Given the description of an element on the screen output the (x, y) to click on. 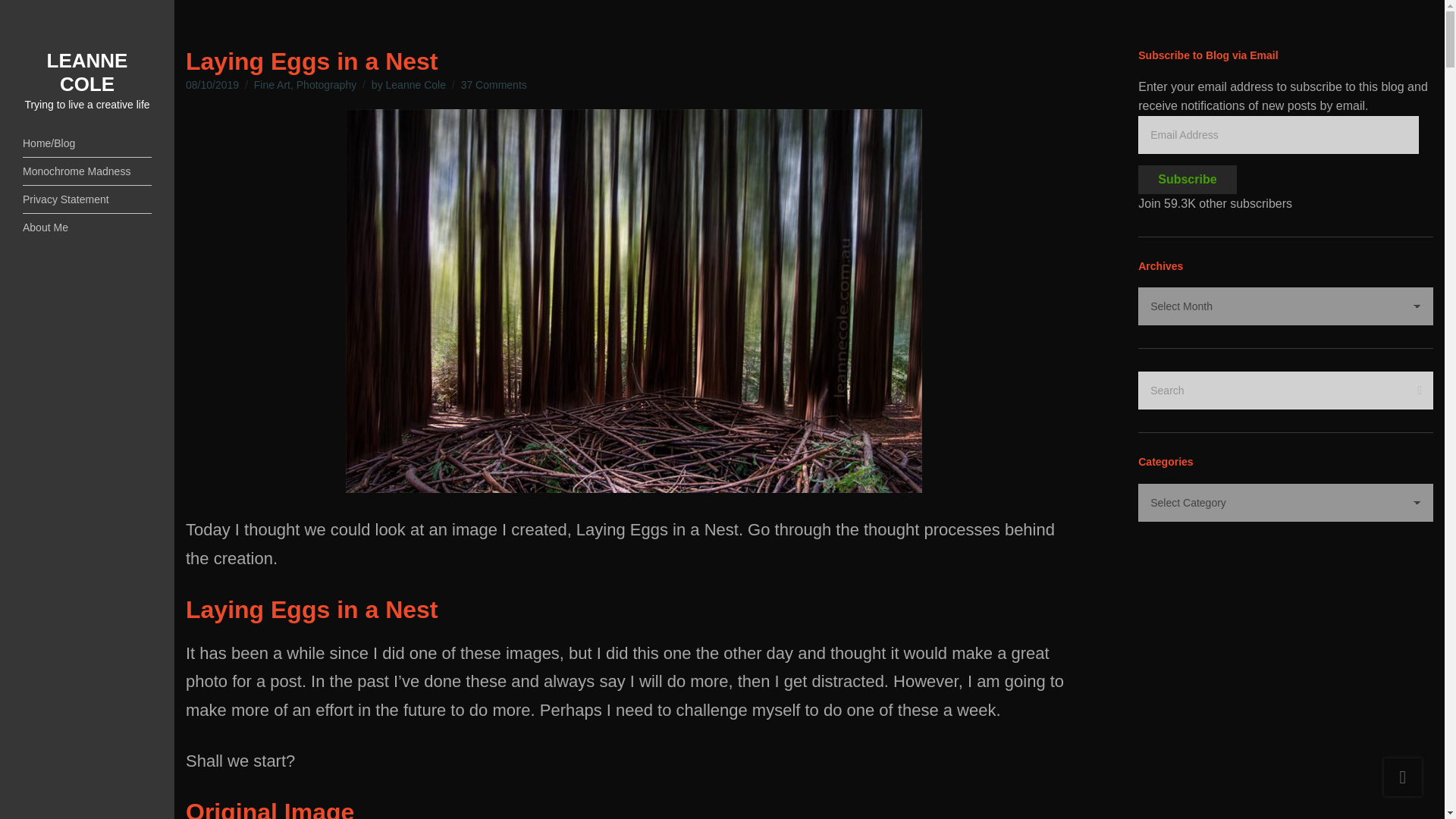
Leanne Cole (415, 84)
Privacy Statement (87, 199)
About (494, 84)
Monochrome Madness (87, 226)
Fine Art (87, 171)
LEANNE COLE (271, 84)
About Me (87, 72)
Photography (87, 226)
